Given the description of an element on the screen output the (x, y) to click on. 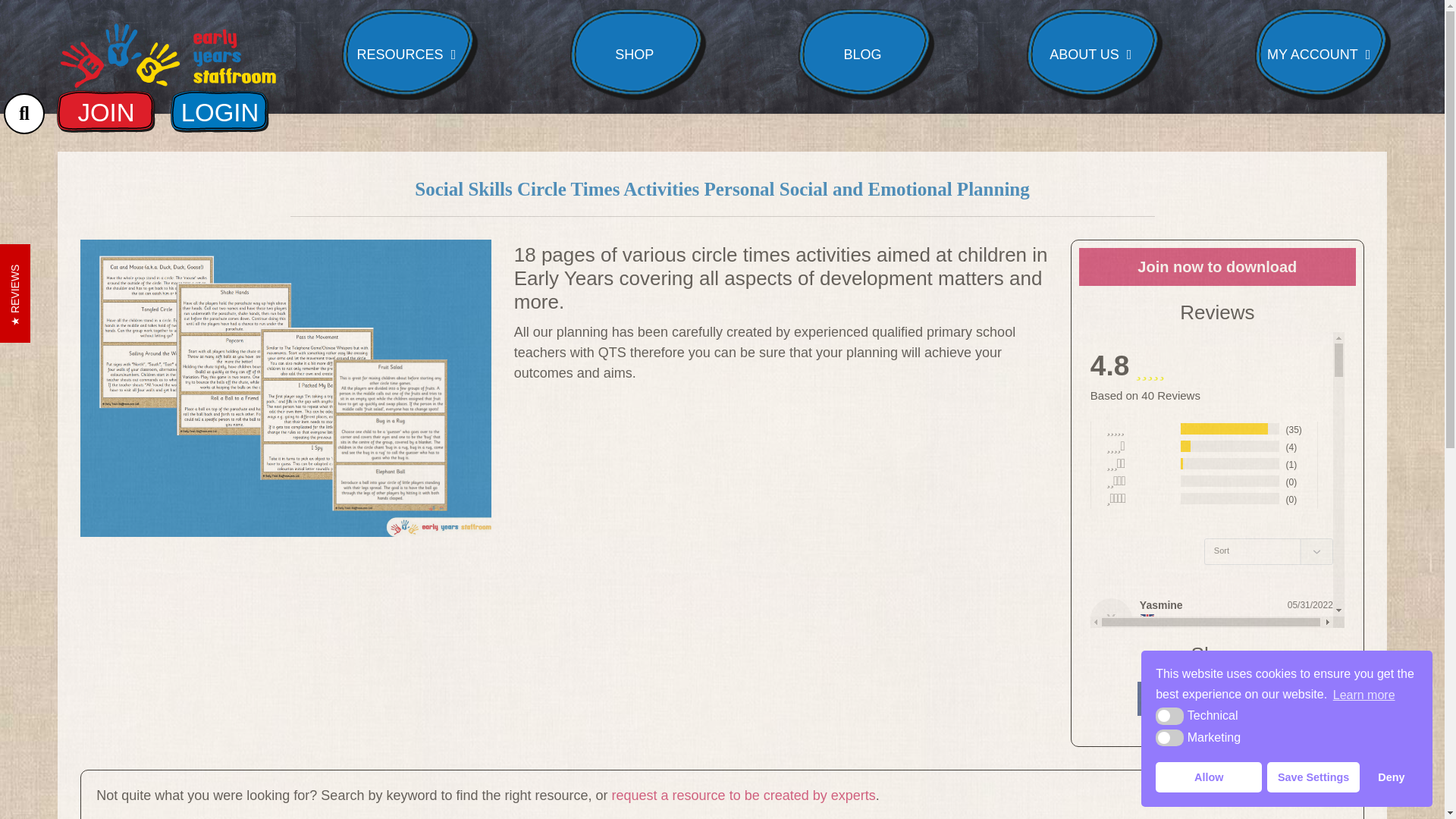
Save Settings (1312, 777)
LOGIN (219, 105)
JOIN (105, 105)
RESOURCES (410, 54)
Learn more (1363, 694)
MY ACCOUNT (1322, 54)
Deny (1391, 777)
SHOP (638, 54)
Allow (1209, 777)
BLOG (866, 54)
ABOUT US (1093, 54)
